Given the description of an element on the screen output the (x, y) to click on. 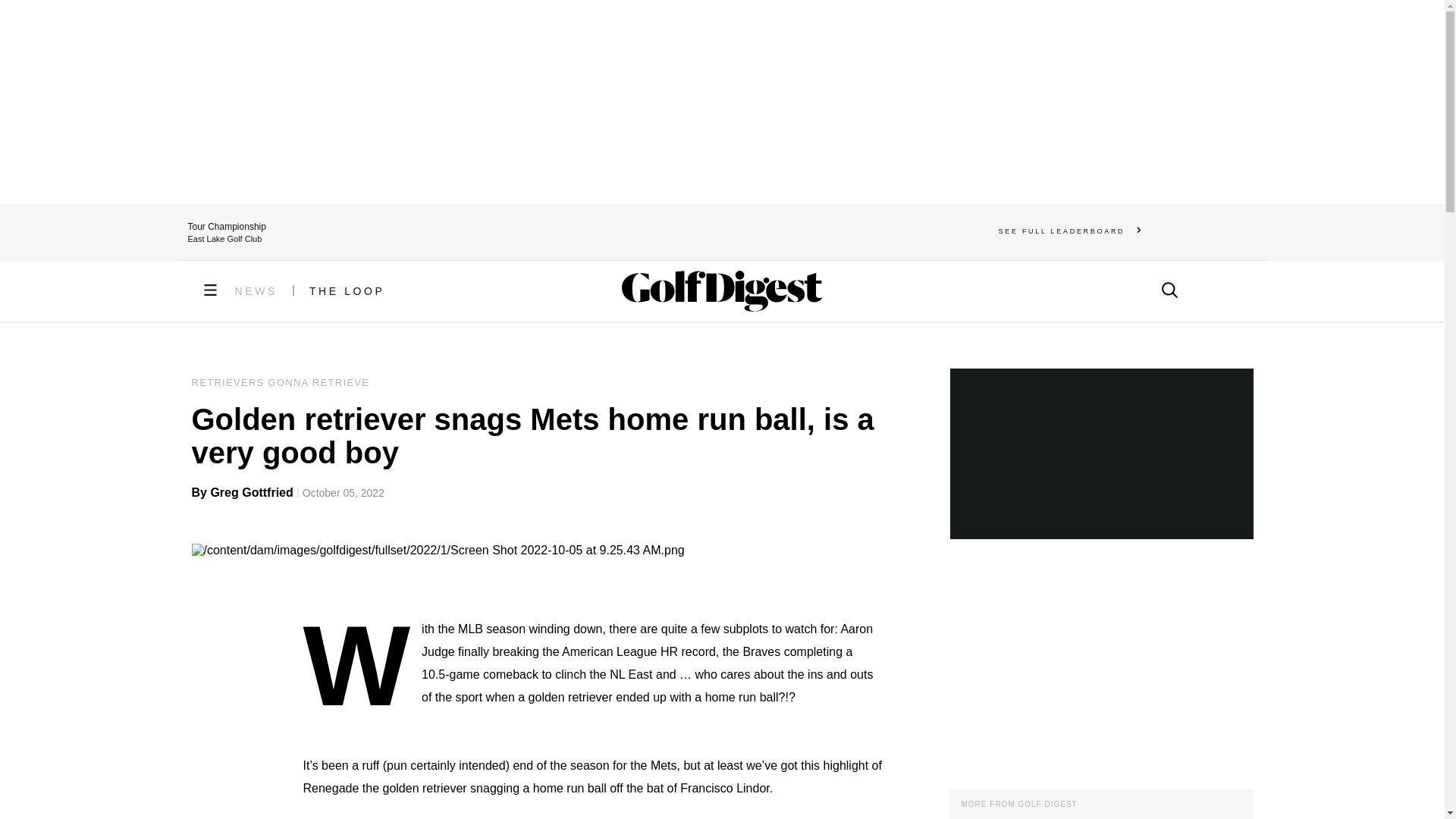
THE LOOP (346, 291)
SEE FULL LEADERBOARD (1069, 230)
NEWS (256, 291)
